Given the description of an element on the screen output the (x, y) to click on. 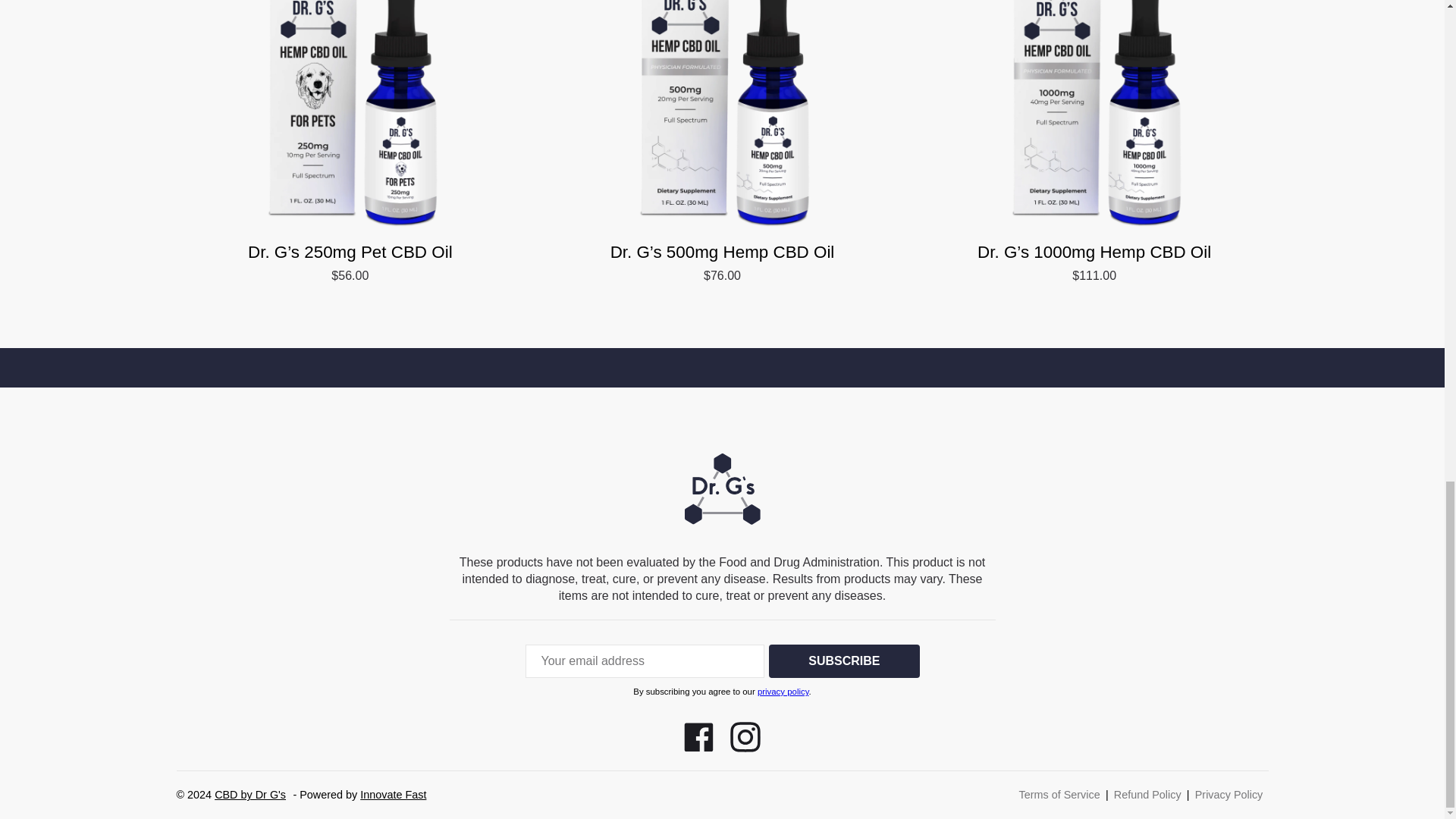
SUBSCRIBE (843, 661)
privacy policy (783, 691)
Refund Policy (1146, 794)
Privacy Policy (1229, 794)
CBD by Dr G's (249, 794)
CBD by Dr G's on Instagram (745, 748)
Innovate Fast (392, 794)
CBD by Dr G's on Facebook (700, 748)
Terms of Service (1059, 794)
